Given the description of an element on the screen output the (x, y) to click on. 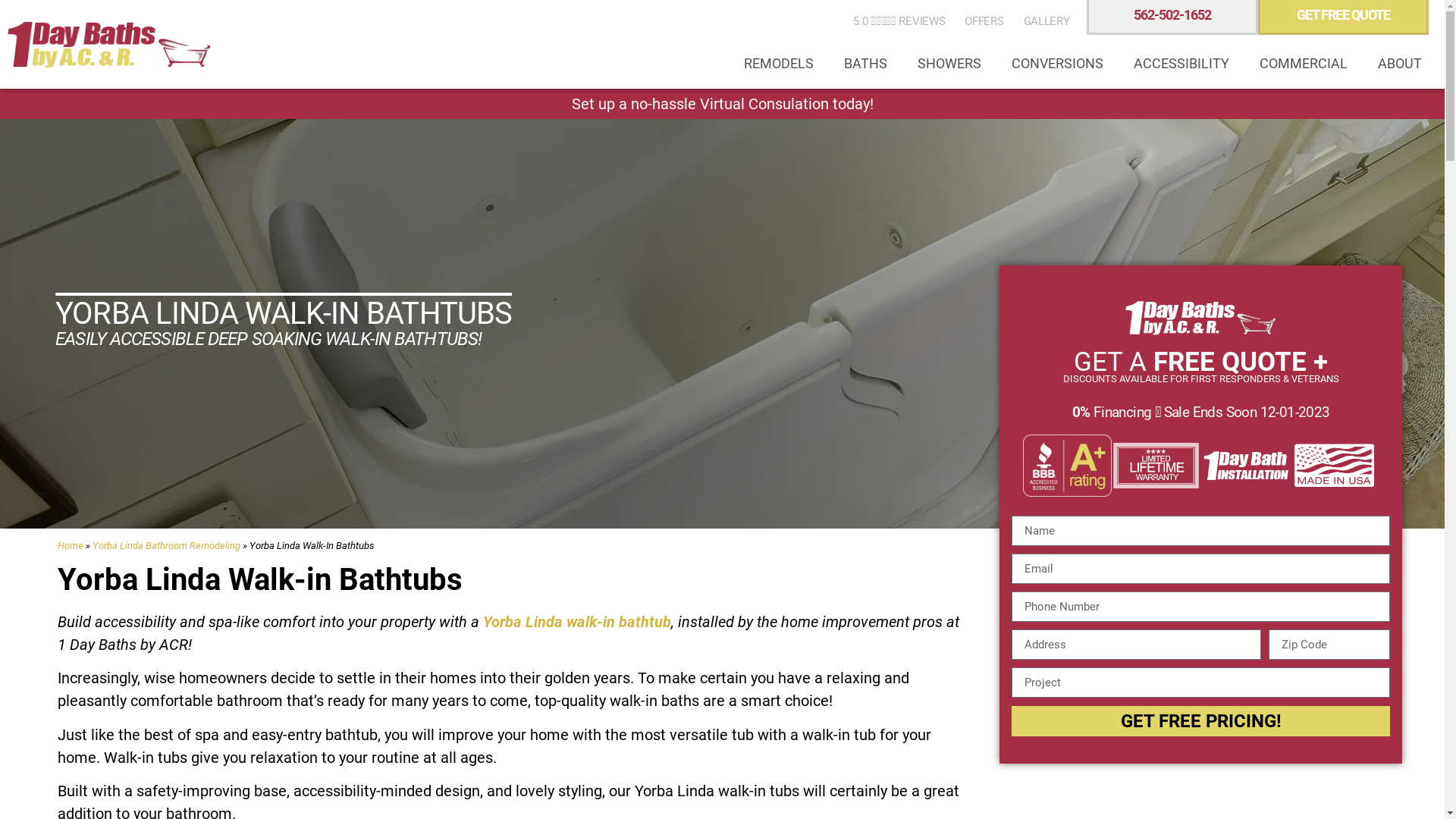
Set up a no-hassle Virtual Consulation today! Element type: text (722, 103)
OFFERS Element type: text (983, 20)
Yorba Linda Bathroom Remodeling Element type: text (166, 545)
ACCESSIBILITY Element type: text (1181, 63)
Yorba Linda walk-in bathtub Element type: text (577, 621)
GET FREE PRICING! Element type: text (1200, 721)
BATHS Element type: text (865, 63)
REMODELS Element type: text (778, 63)
Home Element type: text (70, 545)
562-502-1652 Element type: text (1172, 14)
GALLERY Element type: text (1046, 20)
COMMERCIAL Element type: text (1303, 63)
CONVERSIONS Element type: text (1057, 63)
ABOUT Element type: text (1399, 63)
SHOWERS Element type: text (949, 63)
GET FREE QUOTE Element type: text (1343, 14)
